Given the description of an element on the screen output the (x, y) to click on. 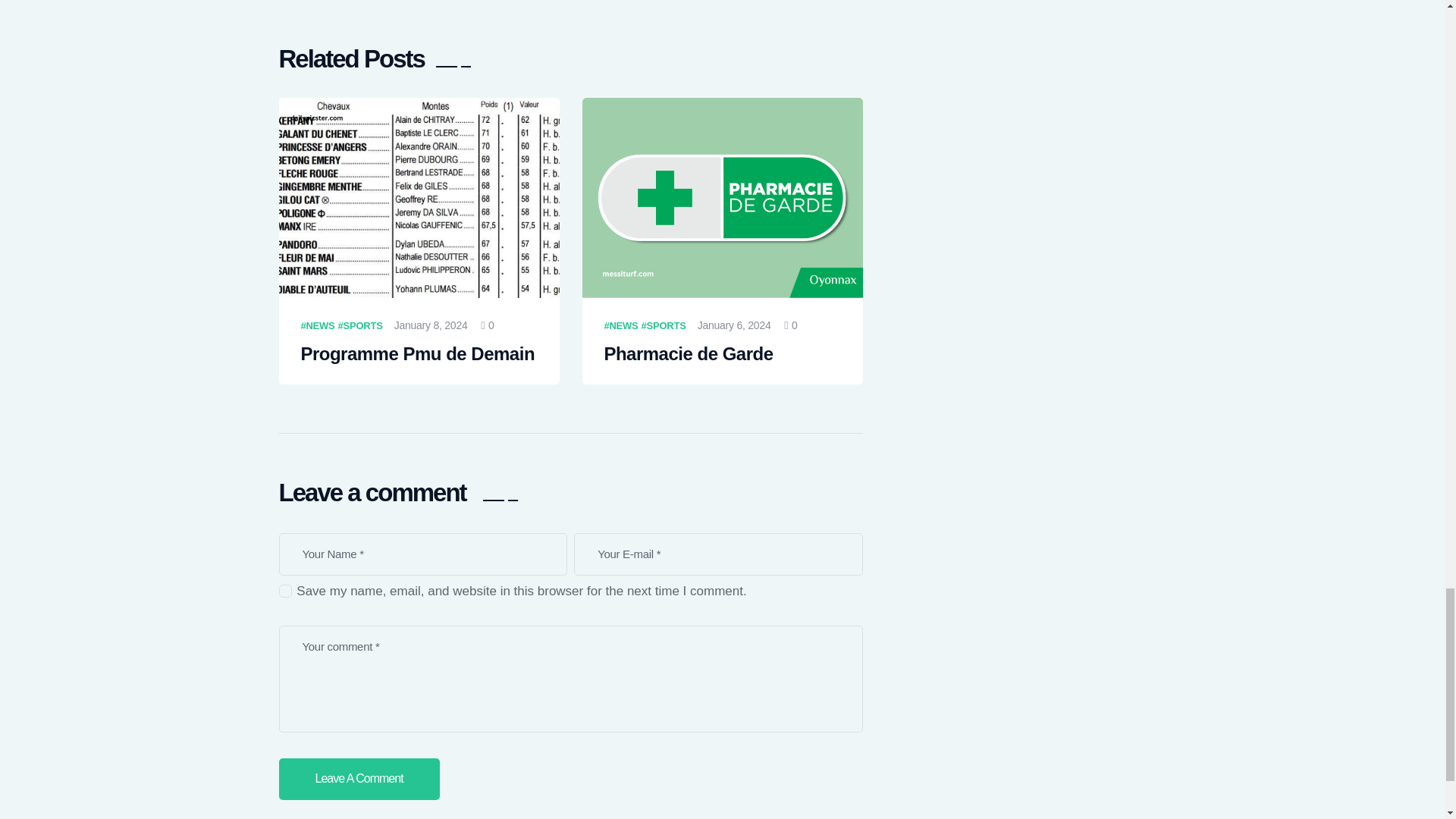
Leave a comment (359, 779)
